Given the description of an element on the screen output the (x, y) to click on. 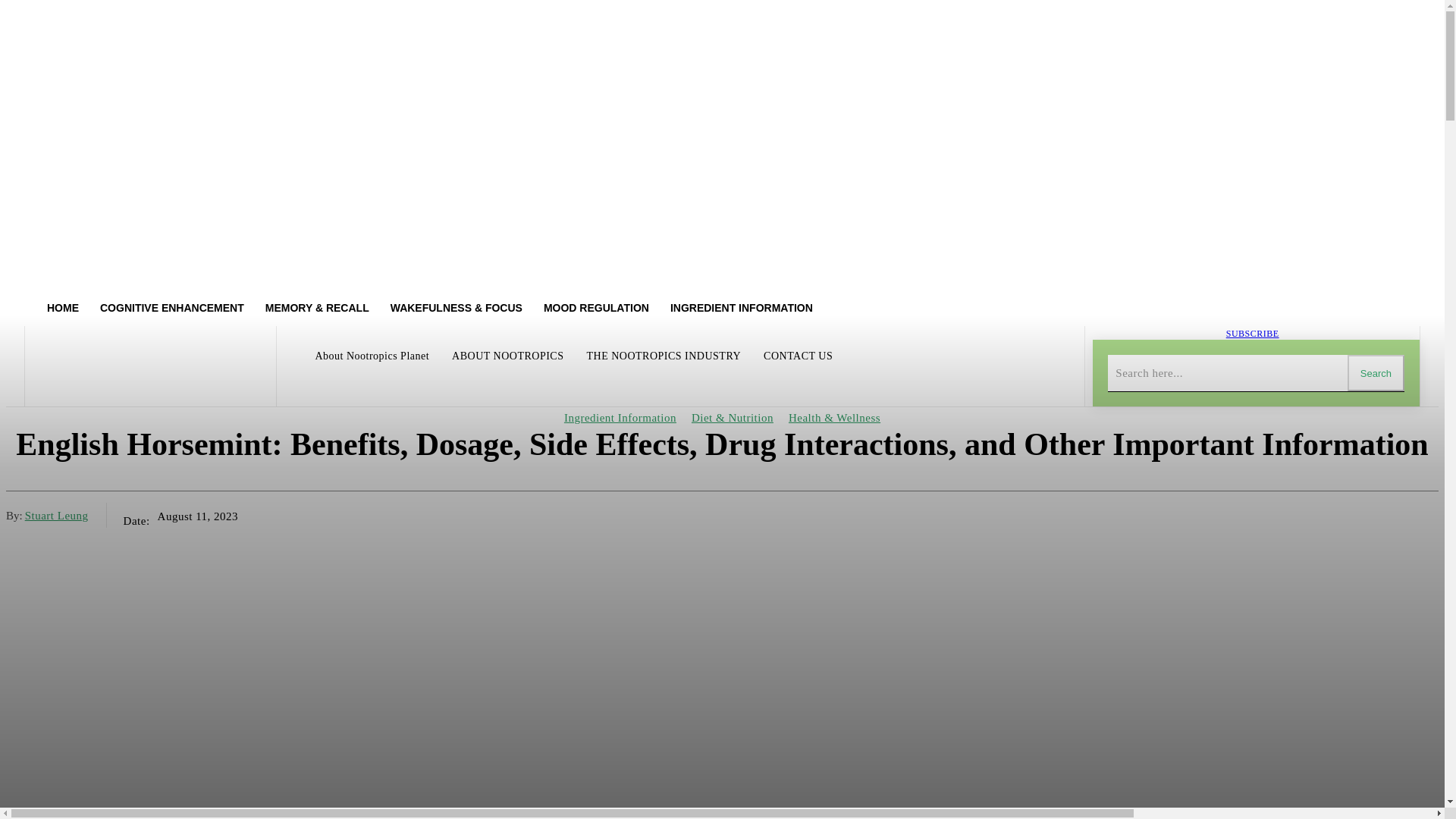
ABOUT NOOTROPICS (507, 355)
SUBSCRIBE (1252, 333)
Ingredient Information (620, 418)
Subscribe (1252, 333)
CONTACT US (797, 355)
Stuart Leung (56, 514)
MOOD REGULATION (595, 307)
About Nootropics Planet (371, 355)
COGNITIVE ENHANCEMENT (171, 307)
HOME (62, 307)
Search (1376, 372)
INGREDIENT INFORMATION (741, 307)
Search (1376, 372)
THE NOOTROPICS INDUSTRY (663, 355)
